Given the description of an element on the screen output the (x, y) to click on. 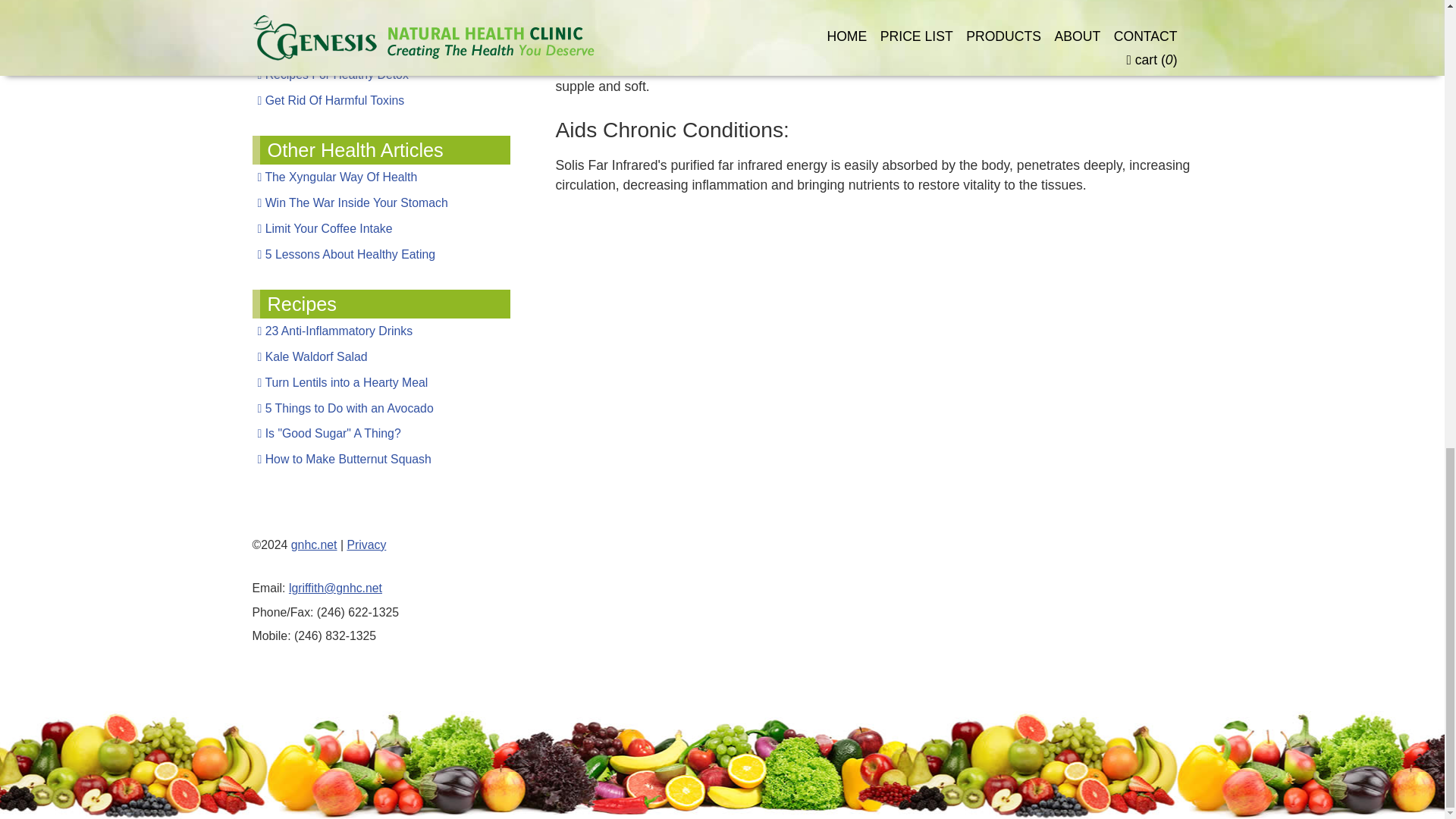
Recipes For Healthy Detox (380, 74)
Get Rid Of Harmful Toxins (380, 100)
Cleansing Before Pregnancy (380, 5)
Total Body Cleansing (380, 49)
The Xyngular Way Of Health (380, 177)
Win The War Inside Your Stomach (380, 203)
Limit Your Coffee Intake (380, 228)
5 Lessons About Healthy Eating (380, 254)
Burdened By Toxins (380, 23)
